Given the description of an element on the screen output the (x, y) to click on. 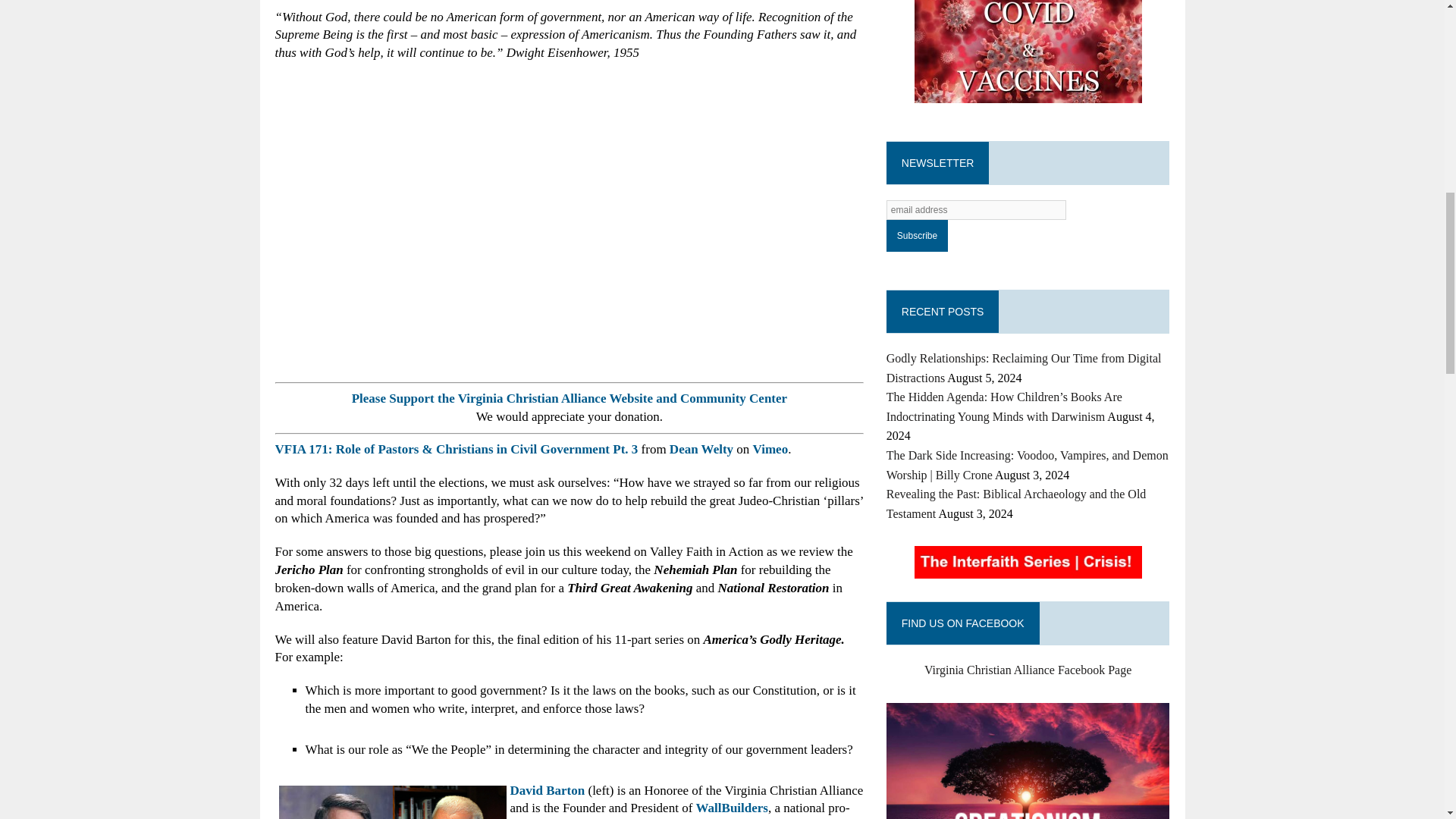
Subscribe (916, 235)
